Given the description of an element on the screen output the (x, y) to click on. 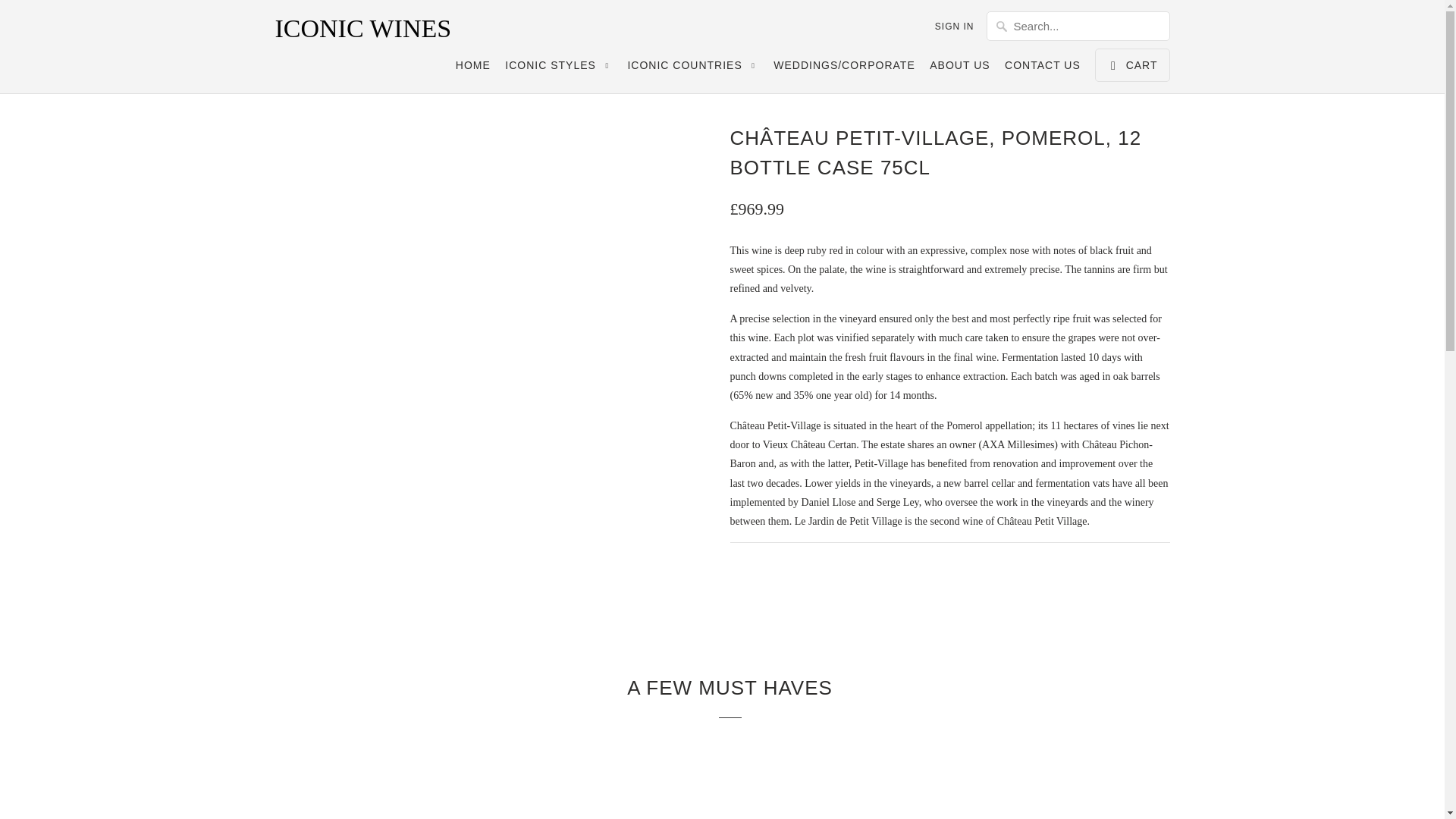
ABOUT US (960, 68)
Cart (1131, 64)
CART (1131, 64)
CONTACT US (1042, 68)
ICONIC WINES (380, 28)
HOME (472, 68)
ICONIC COUNTRIES (692, 68)
SIGN IN (954, 26)
ICONIC STYLES (558, 68)
Iconic Wines (380, 28)
